Given the description of an element on the screen output the (x, y) to click on. 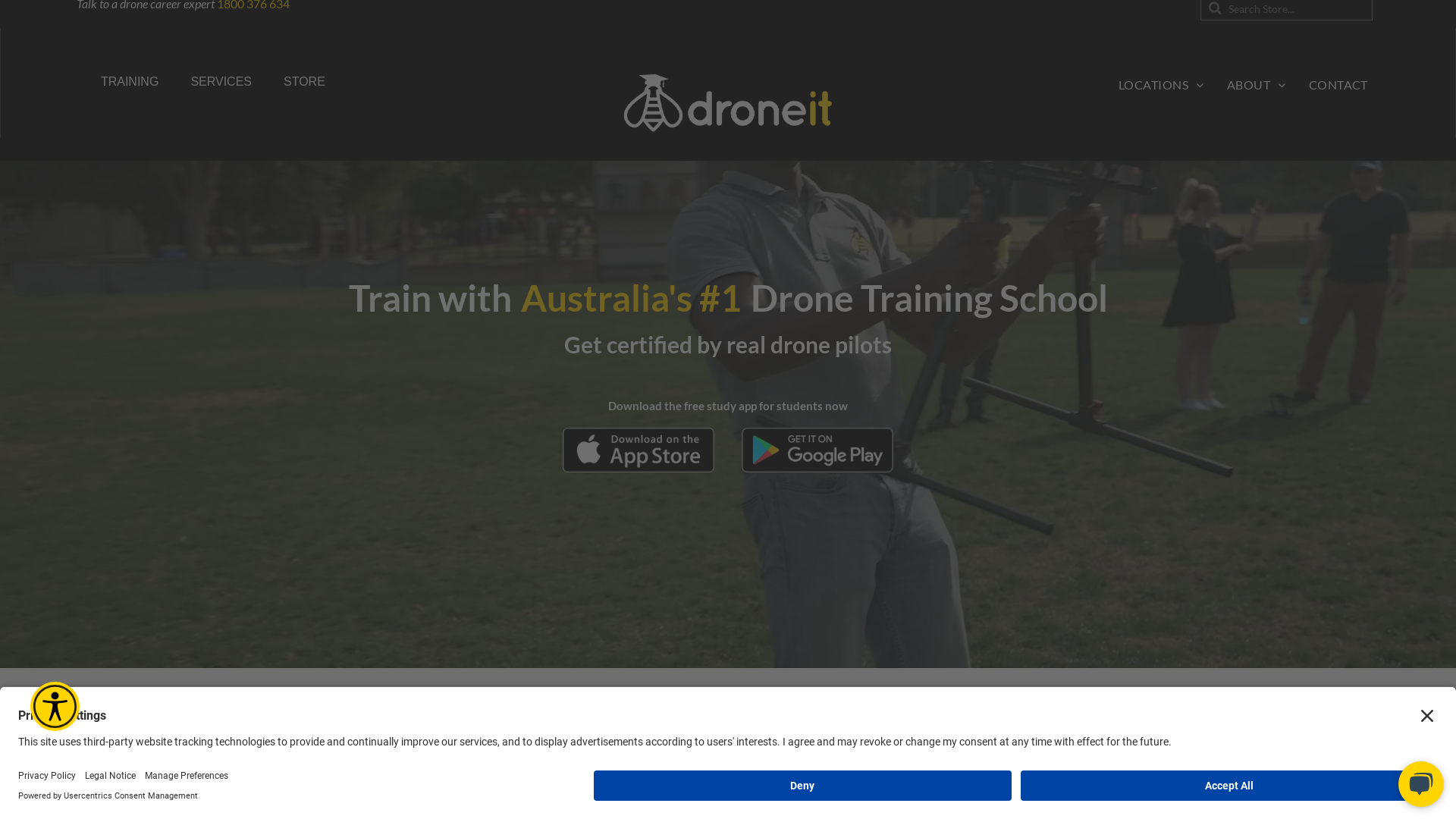
LOCATIONS Element type: text (1161, 84)
CONTACT Element type: text (1338, 84)
STORE Element type: text (304, 81)
SERVICES Element type: text (220, 81)
Book & Win 1 of 3 DJI drones + FREE 25kg course upgrade Element type: text (727, 798)
TRAINING Element type: text (129, 81)
ABOUT Element type: text (1256, 84)
